Given the description of an element on the screen output the (x, y) to click on. 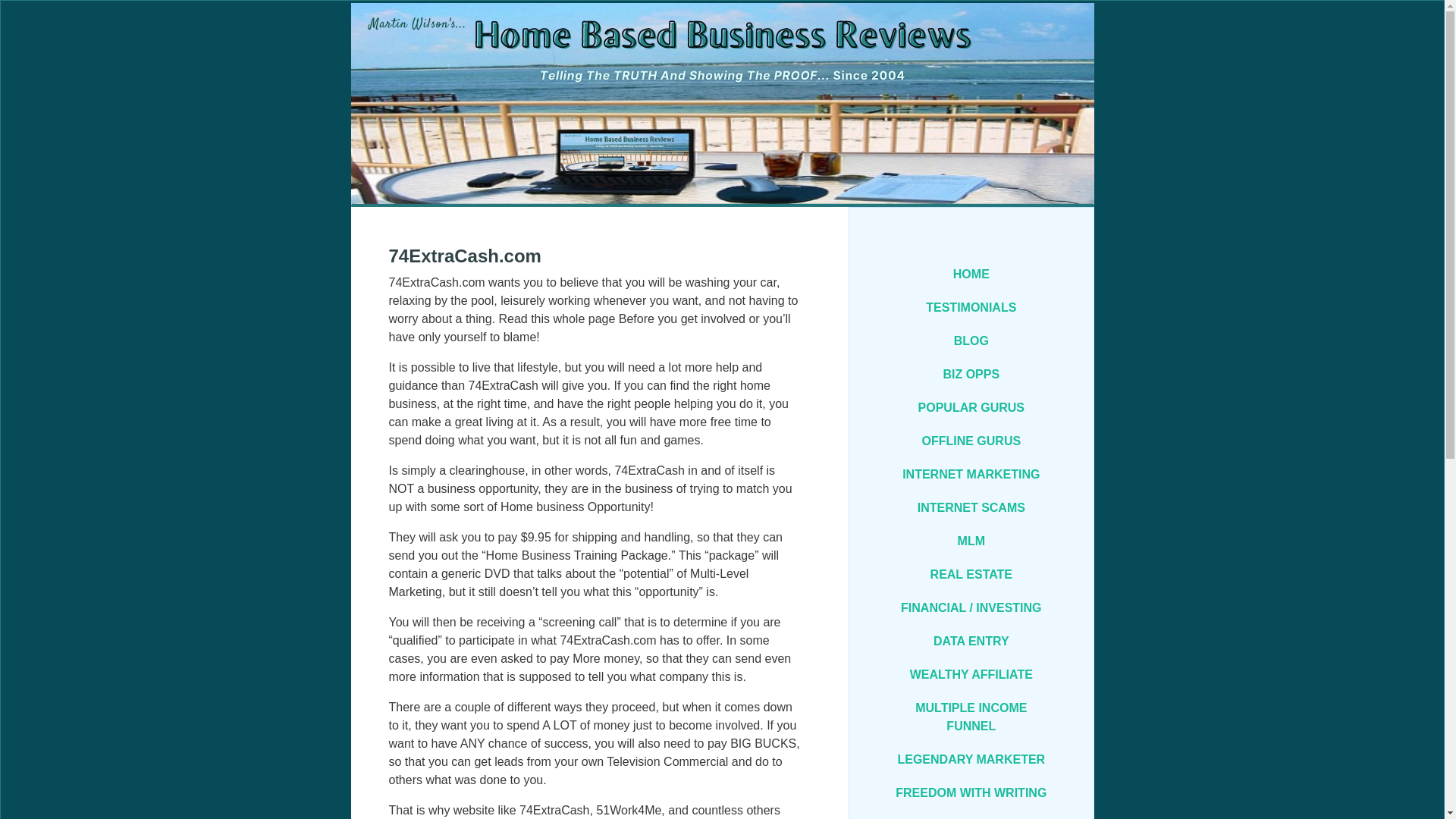
INTERNET SCAMS (970, 507)
MULTIPLE INCOME FUNNEL (970, 716)
MLM (970, 540)
FREEDOM WITH WRITING (970, 792)
OFFLINE GURUS (970, 441)
DIGITAL WEALTH PROS (970, 814)
DATA ENTRY (970, 641)
WEALTHY AFFILIATE (970, 674)
LEGENDARY MARKETER (970, 759)
HOME (970, 274)
POPULAR GURUS (970, 408)
BLOG (970, 340)
BIZ OPPS (970, 374)
REAL ESTATE (970, 574)
INTERNET MARKETING (970, 474)
